Given the description of an element on the screen output the (x, y) to click on. 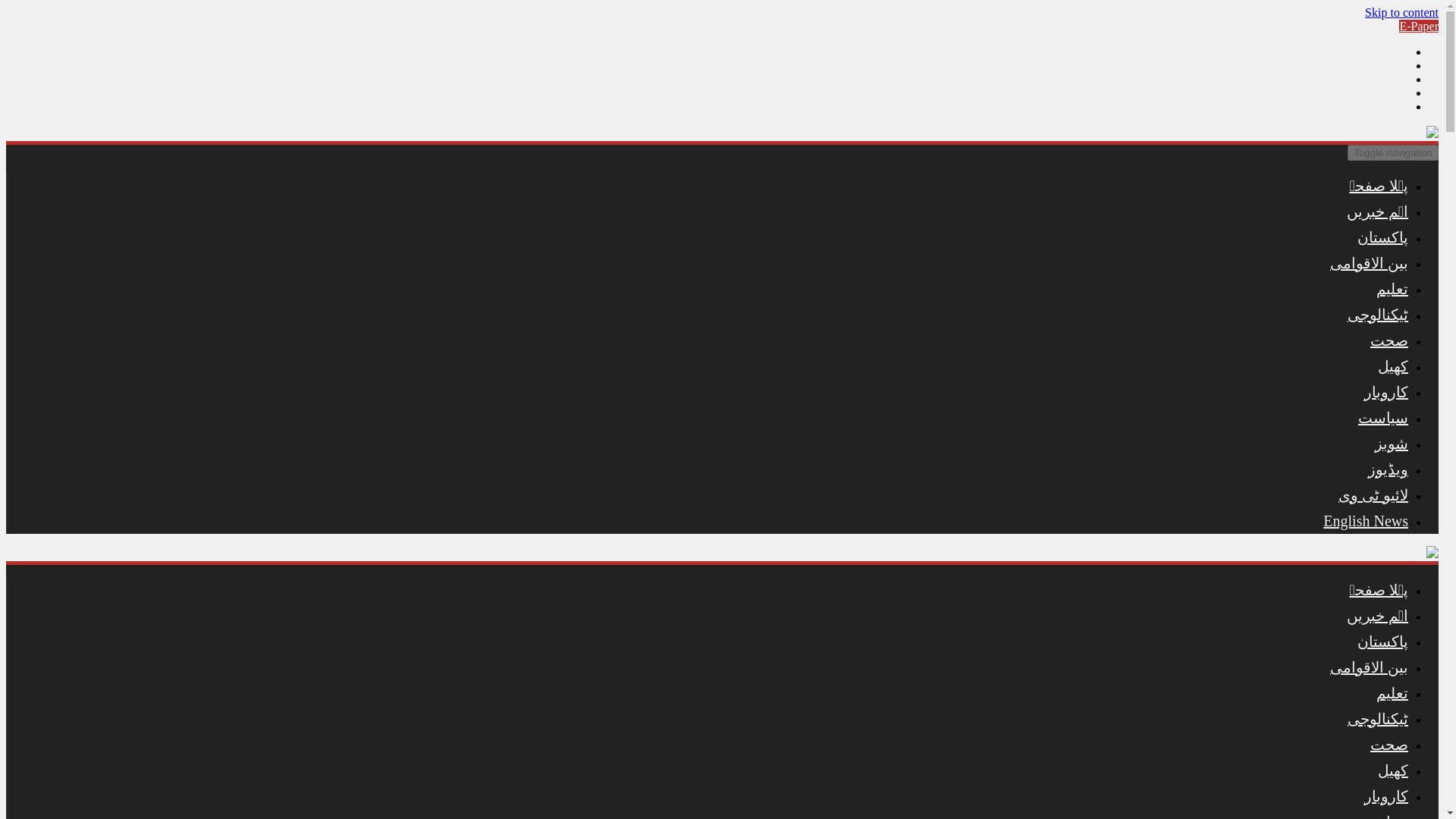
English News (1365, 520)
